Given the description of an element on the screen output the (x, y) to click on. 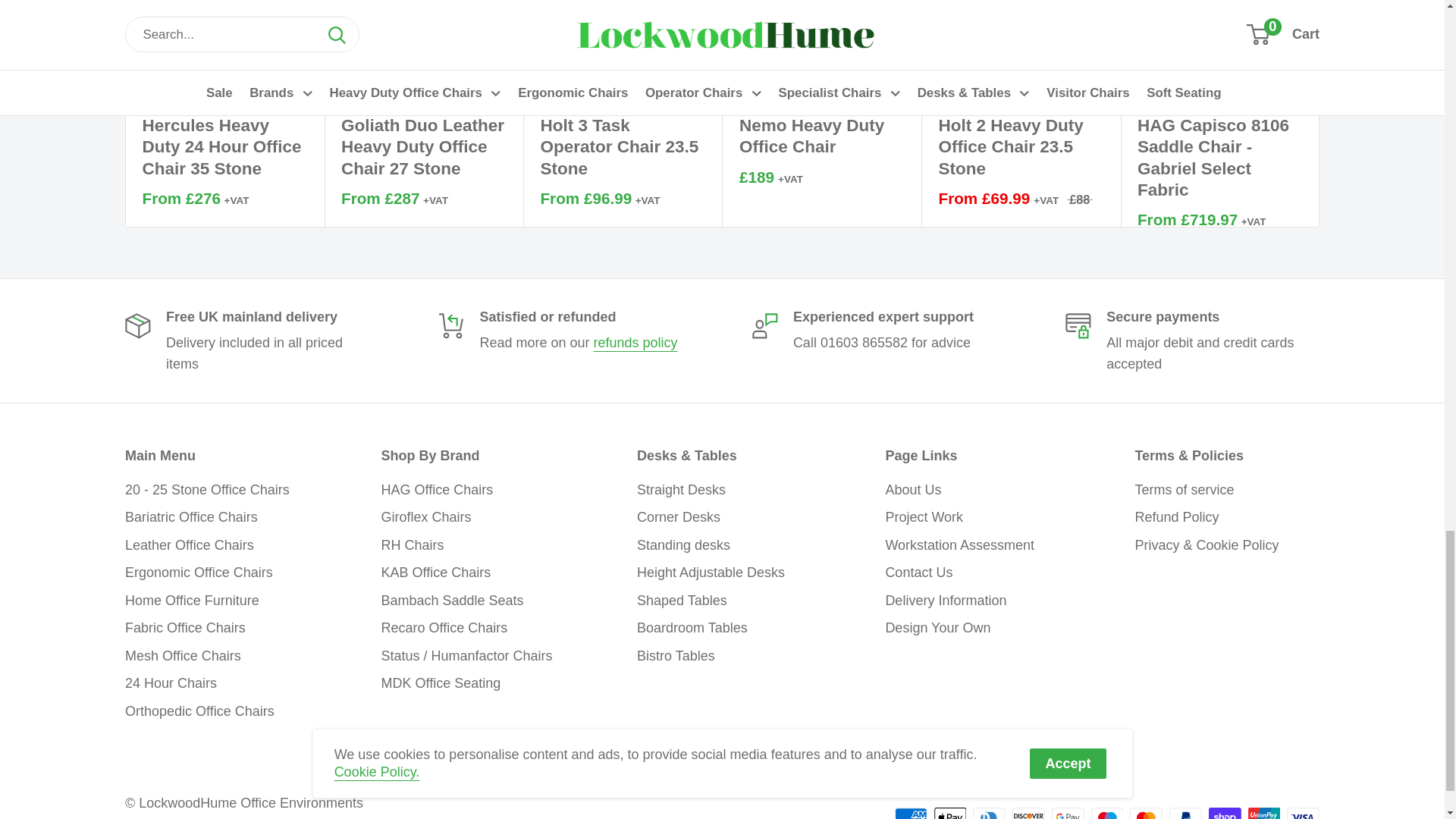
Refund Policy (636, 342)
